Given the description of an element on the screen output the (x, y) to click on. 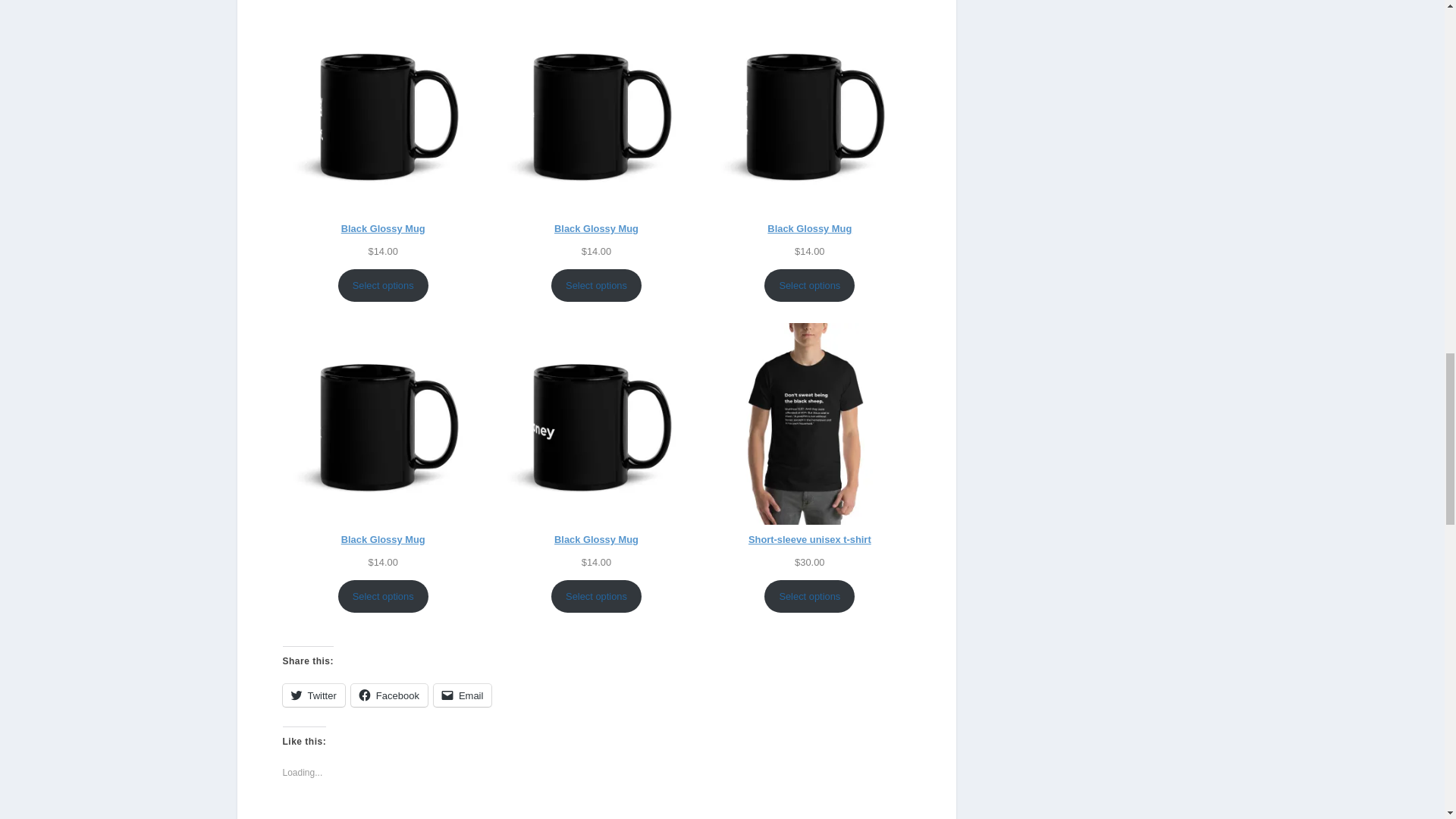
Click to share on Twitter (312, 694)
Click to share on Facebook (389, 694)
Click to email a link to a friend (462, 694)
